Given the description of an element on the screen output the (x, y) to click on. 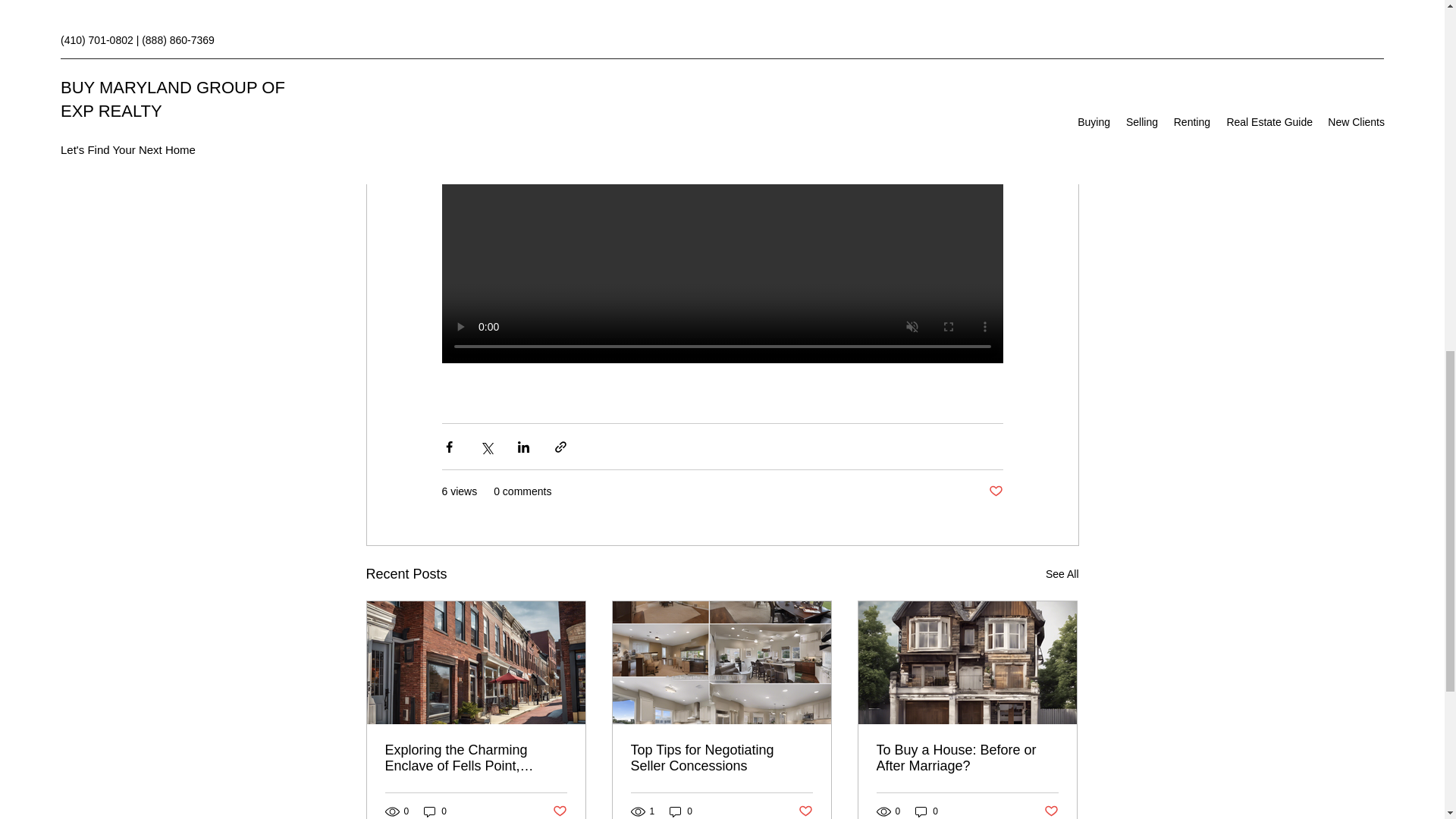
Exploring the Charming Enclave of Fells Point, Maryland (476, 757)
0 (435, 811)
Top Tips for Negotiating Seller Concessions (721, 757)
Post not marked as liked (1050, 811)
Post not marked as liked (804, 811)
Post not marked as liked (995, 491)
0 (926, 811)
To Buy a House: Before or After Marriage? (967, 757)
Post not marked as liked (558, 811)
See All (1061, 574)
